Given the description of an element on the screen output the (x, y) to click on. 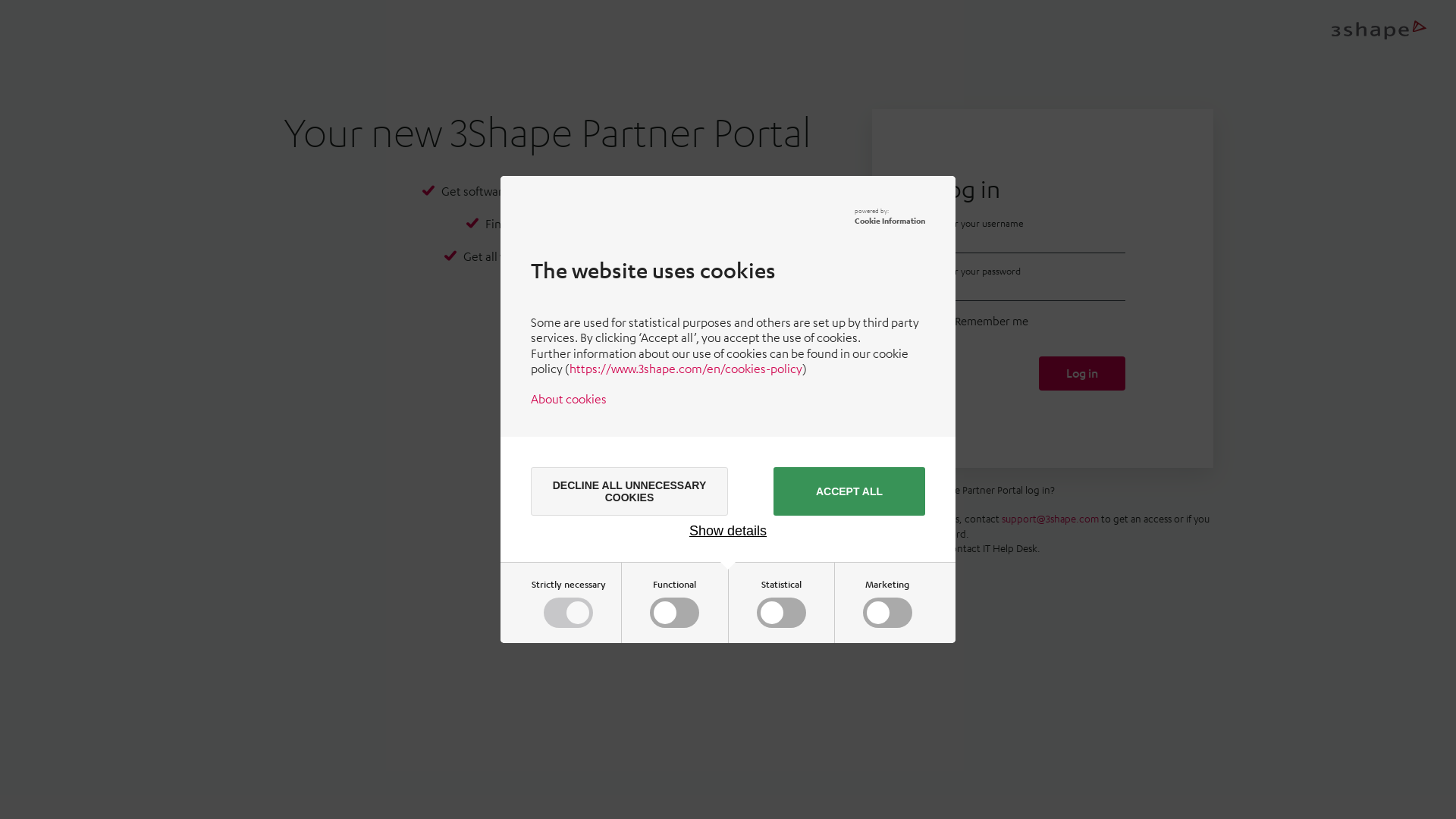
on Element type: text (674, 612)
https://www.3shape.com/en/cookies-policy Element type: text (685, 368)
About cookies Element type: text (568, 398)
Log in Element type: text (1081, 373)
Show details Element type: text (727, 531)
on Element type: text (887, 612)
support@3shape.com Element type: text (1049, 517)
DECLINE ALL UNNECESSARY COOKIES Element type: text (629, 491)
ACCEPT ALL Element type: text (849, 491)
Cookie Information Element type: text (889, 219)
on Element type: text (781, 612)
